Given the description of an element on the screen output the (x, y) to click on. 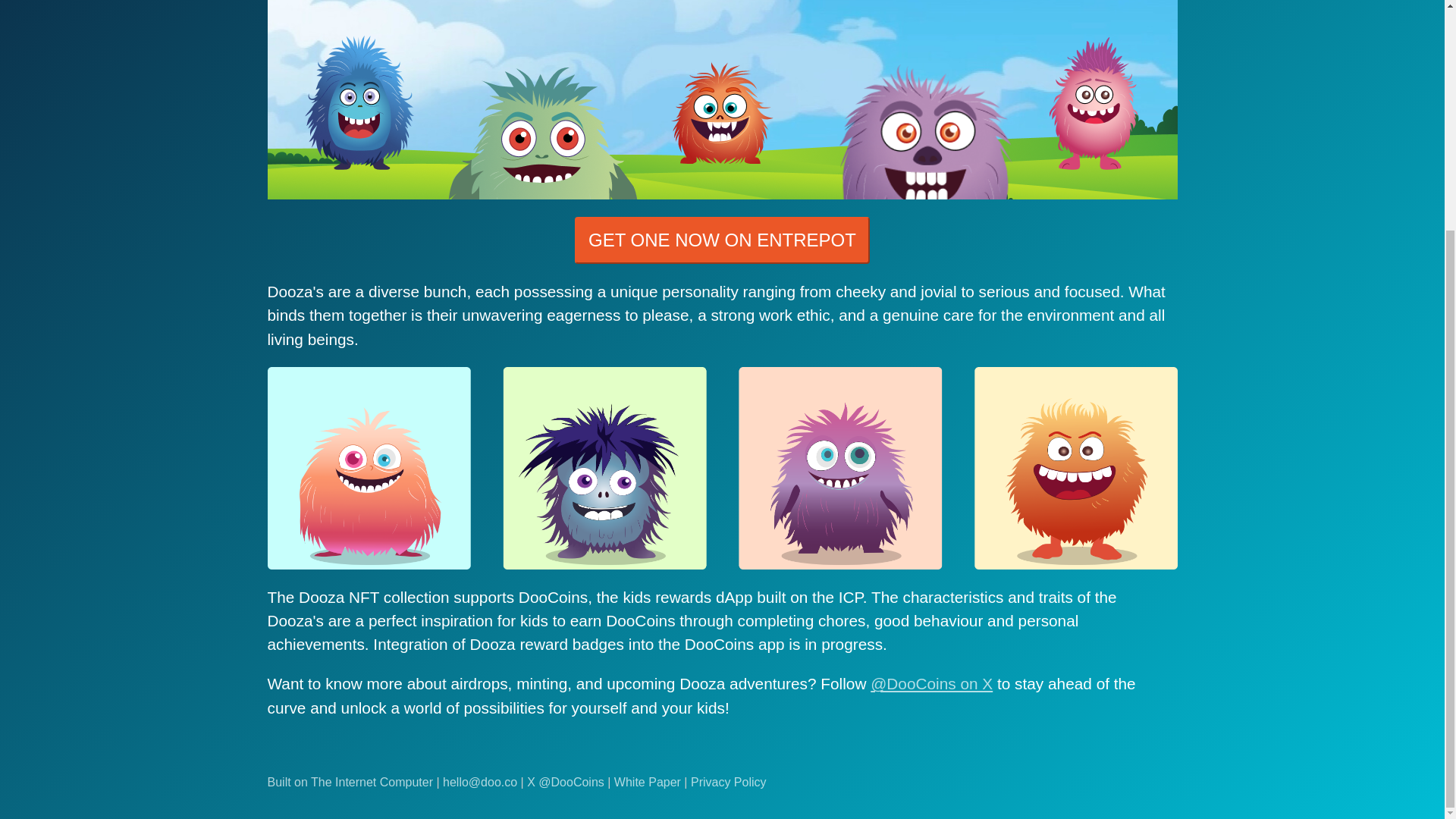
Privacy Policy (728, 781)
GET ONE NOW ON ENTREPOT (722, 240)
White Paper (647, 781)
Built on The Internet Computer (349, 781)
